Given the description of an element on the screen output the (x, y) to click on. 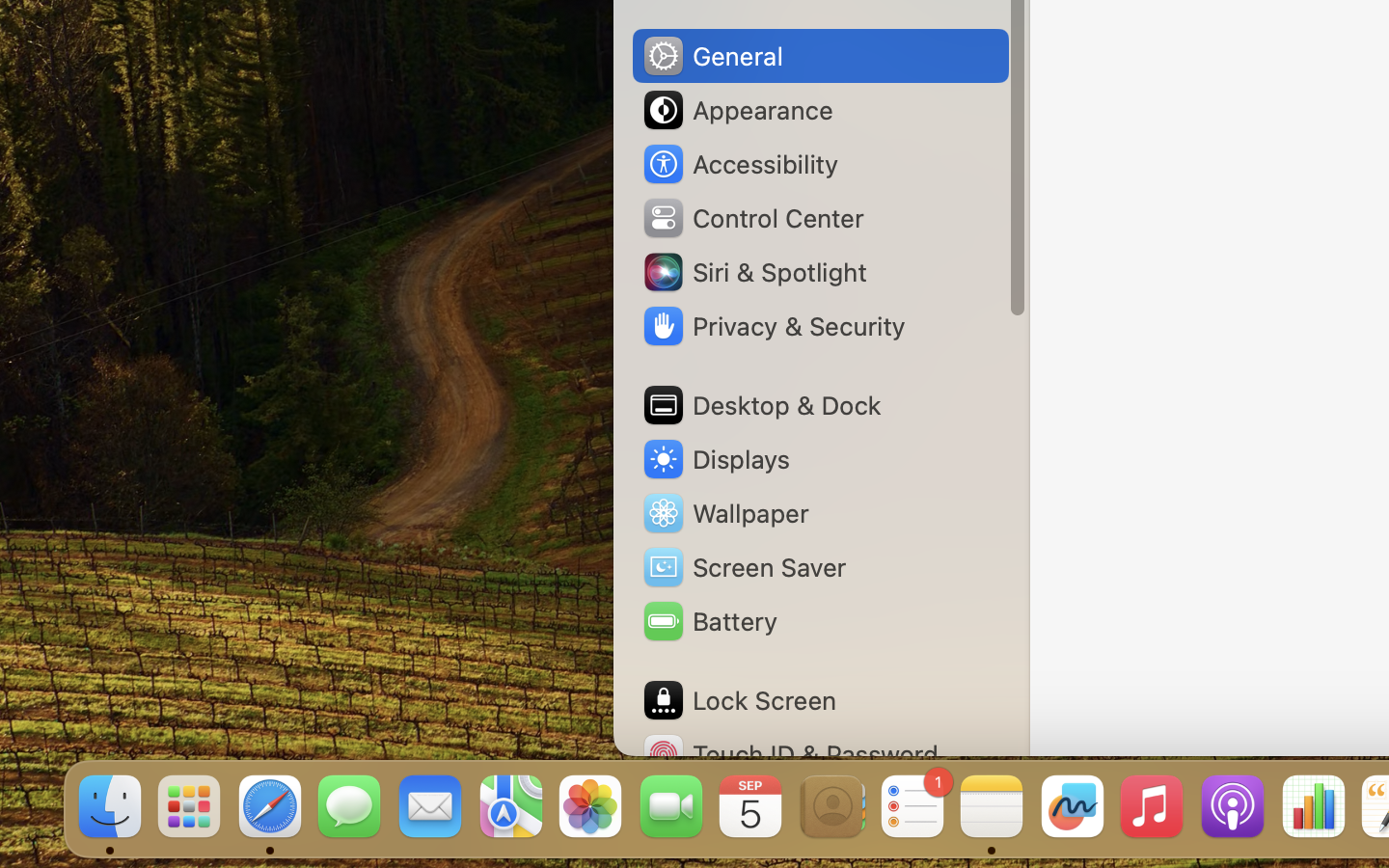
Touch ID & Password Element type: AXStaticText (789, 754)
Siri & Spotlight Element type: AXStaticText (753, 271)
Appearance Element type: AXStaticText (736, 109)
